Given the description of an element on the screen output the (x, y) to click on. 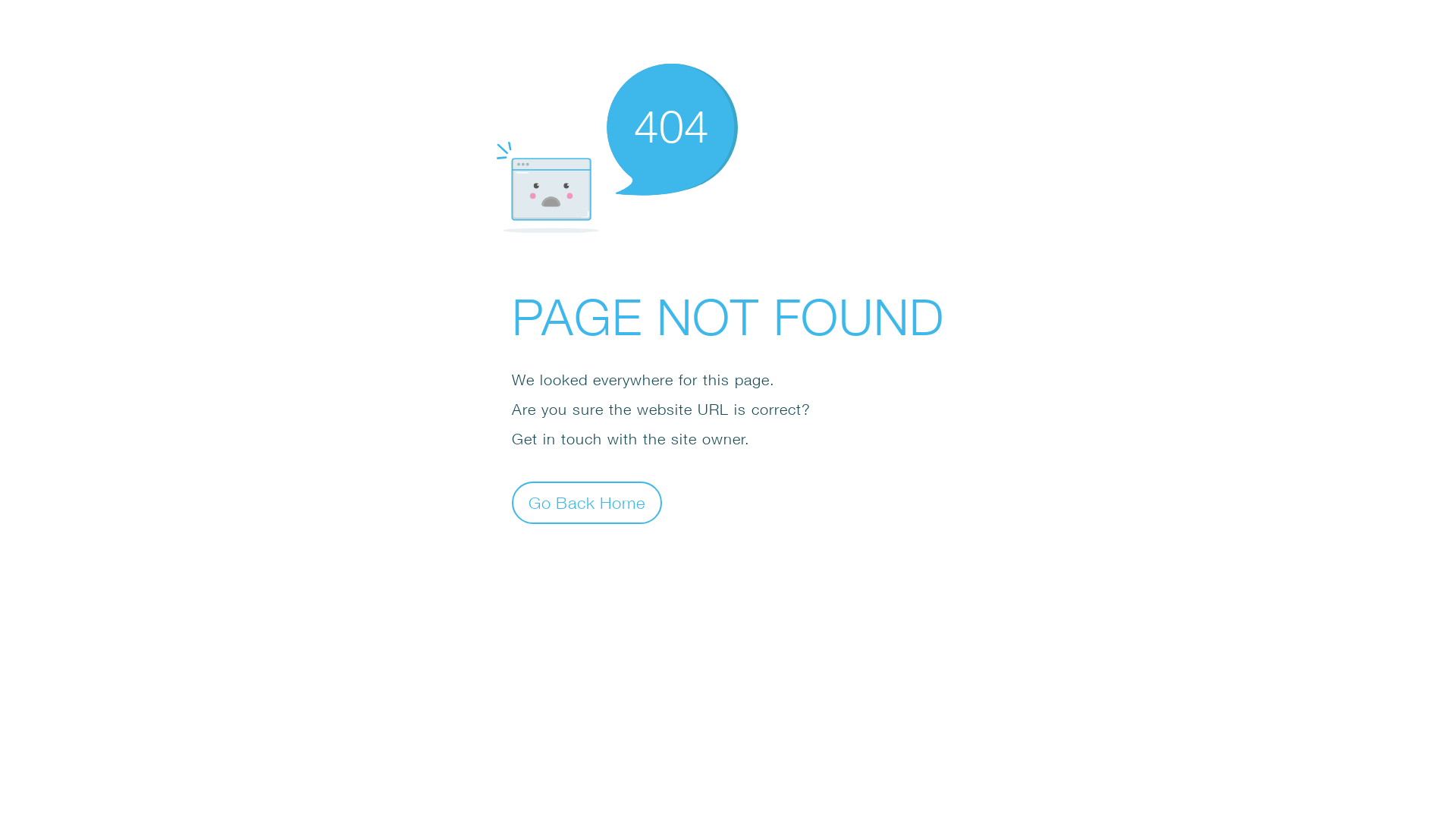
Go Back Home Element type: text (586, 502)
